Given the description of an element on the screen output the (x, y) to click on. 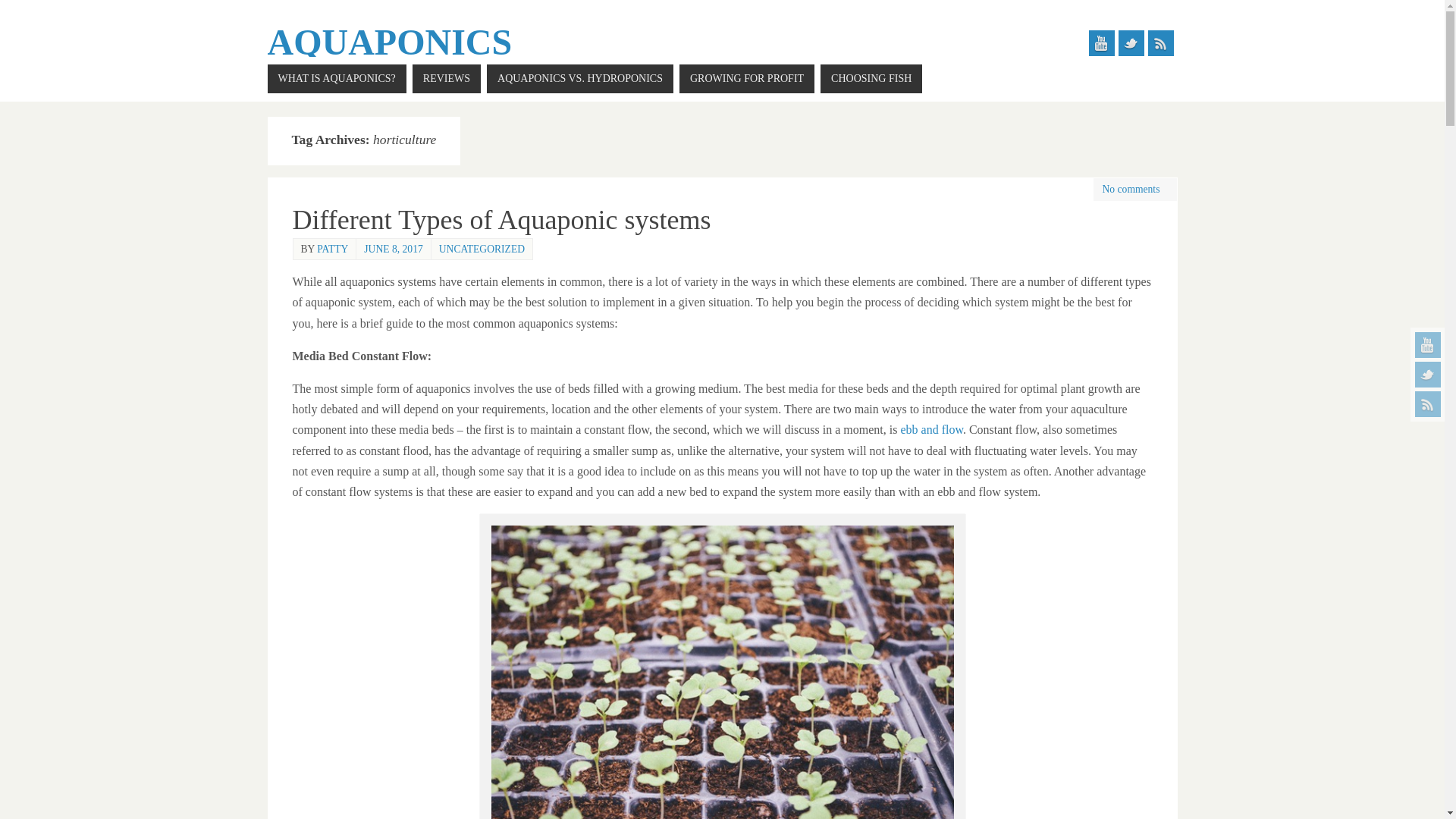
WHAT IS AQUAPONICS? (336, 78)
Permalink to Different Types of Aquaponic systems (501, 219)
RSS (1160, 43)
ebb and flow (930, 429)
AQUAPONICS (389, 42)
Aquaponics (389, 42)
Different Types of Aquaponic systems (501, 219)
JUNE 8, 2017 (393, 247)
RSS (1428, 403)
UNCATEGORIZED (481, 247)
